Given the description of an element on the screen output the (x, y) to click on. 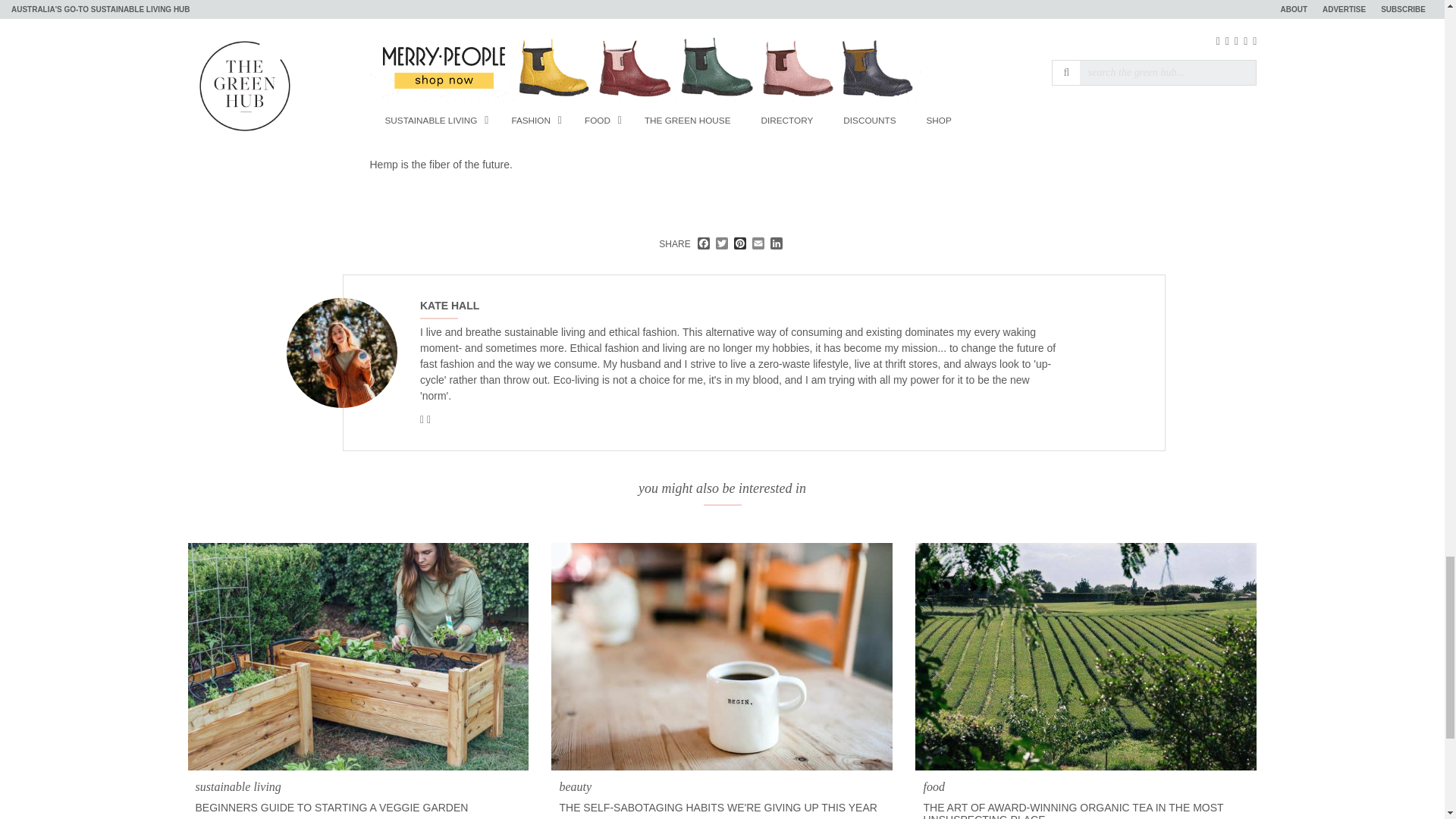
Facebook (703, 244)
Twitter (721, 244)
LinkedIn (776, 244)
Pinterest (739, 244)
Email (758, 244)
